Given the description of an element on the screen output the (x, y) to click on. 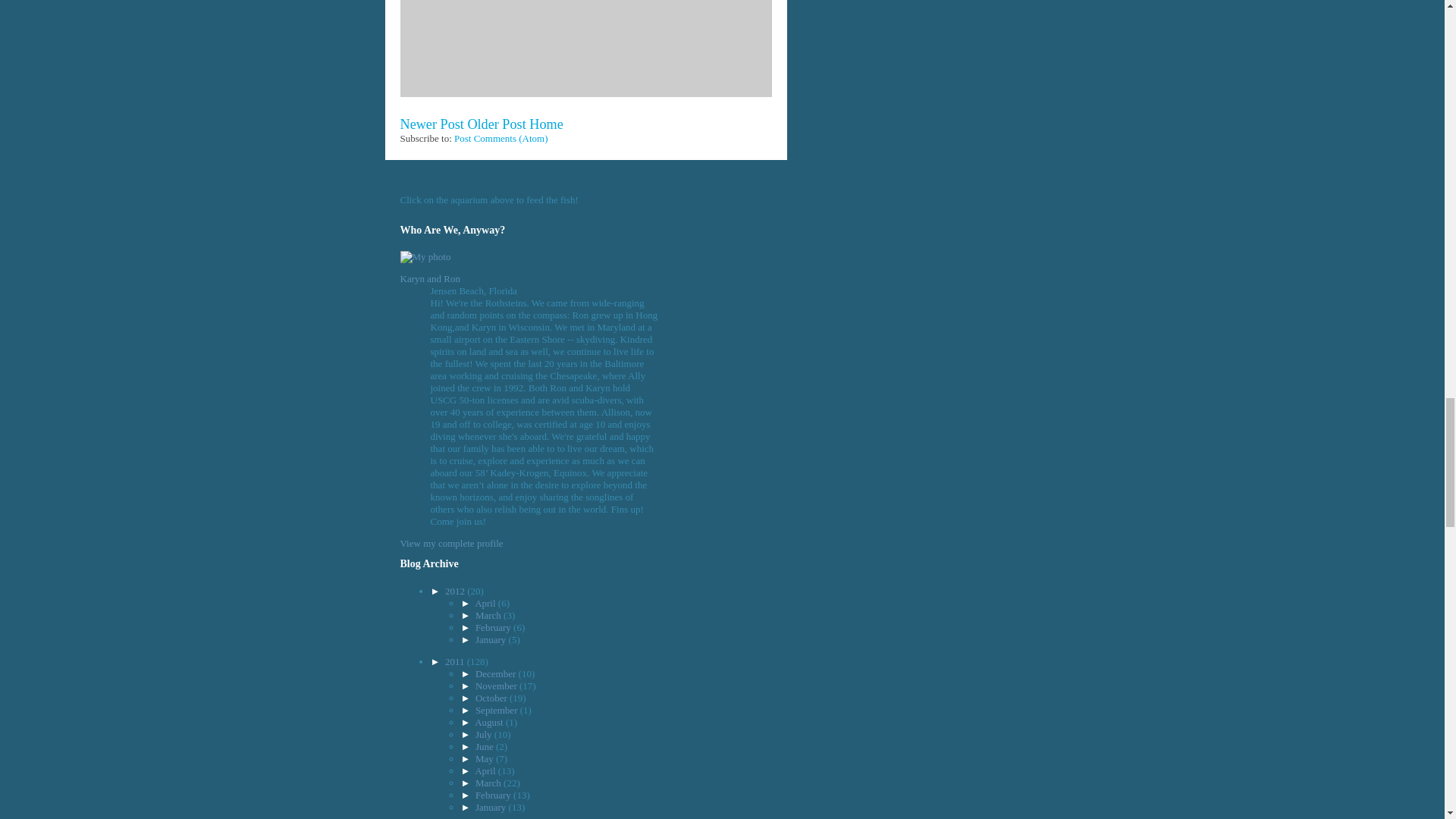
March (489, 614)
Home (545, 124)
Older Post (496, 124)
October (492, 697)
2011 (456, 661)
Newer Post (432, 124)
February (494, 627)
January (492, 639)
April (485, 603)
December (497, 673)
September (497, 709)
November (497, 685)
Karyn and Ron (430, 278)
Older Post (496, 124)
2012 (456, 591)
